Given the description of an element on the screen output the (x, y) to click on. 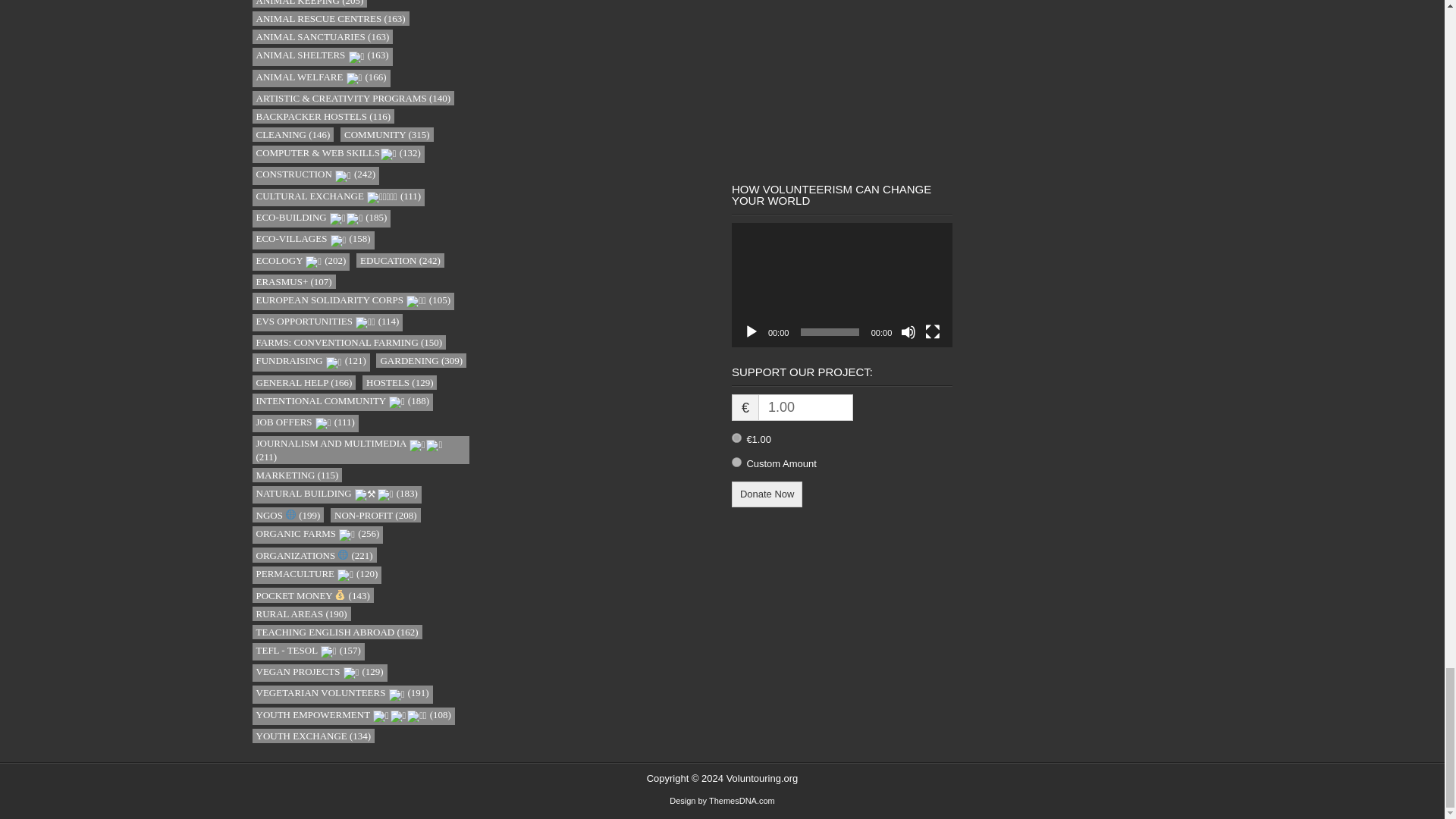
custom (736, 461)
1.00 (805, 406)
1.00 (736, 438)
